Given the description of an element on the screen output the (x, y) to click on. 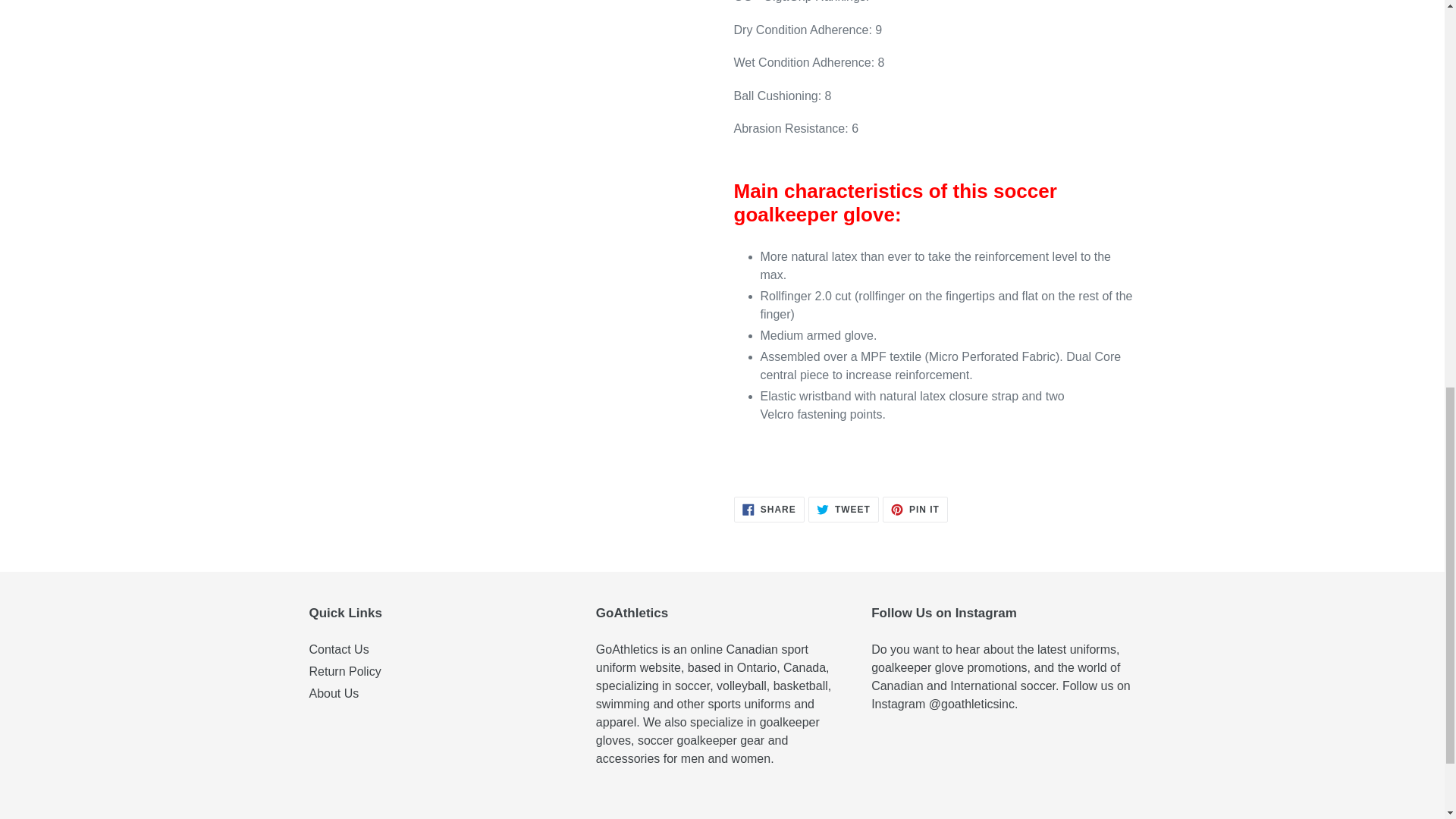
Contact Us (843, 509)
Return Policy (338, 649)
About Us (914, 509)
